Given the description of an element on the screen output the (x, y) to click on. 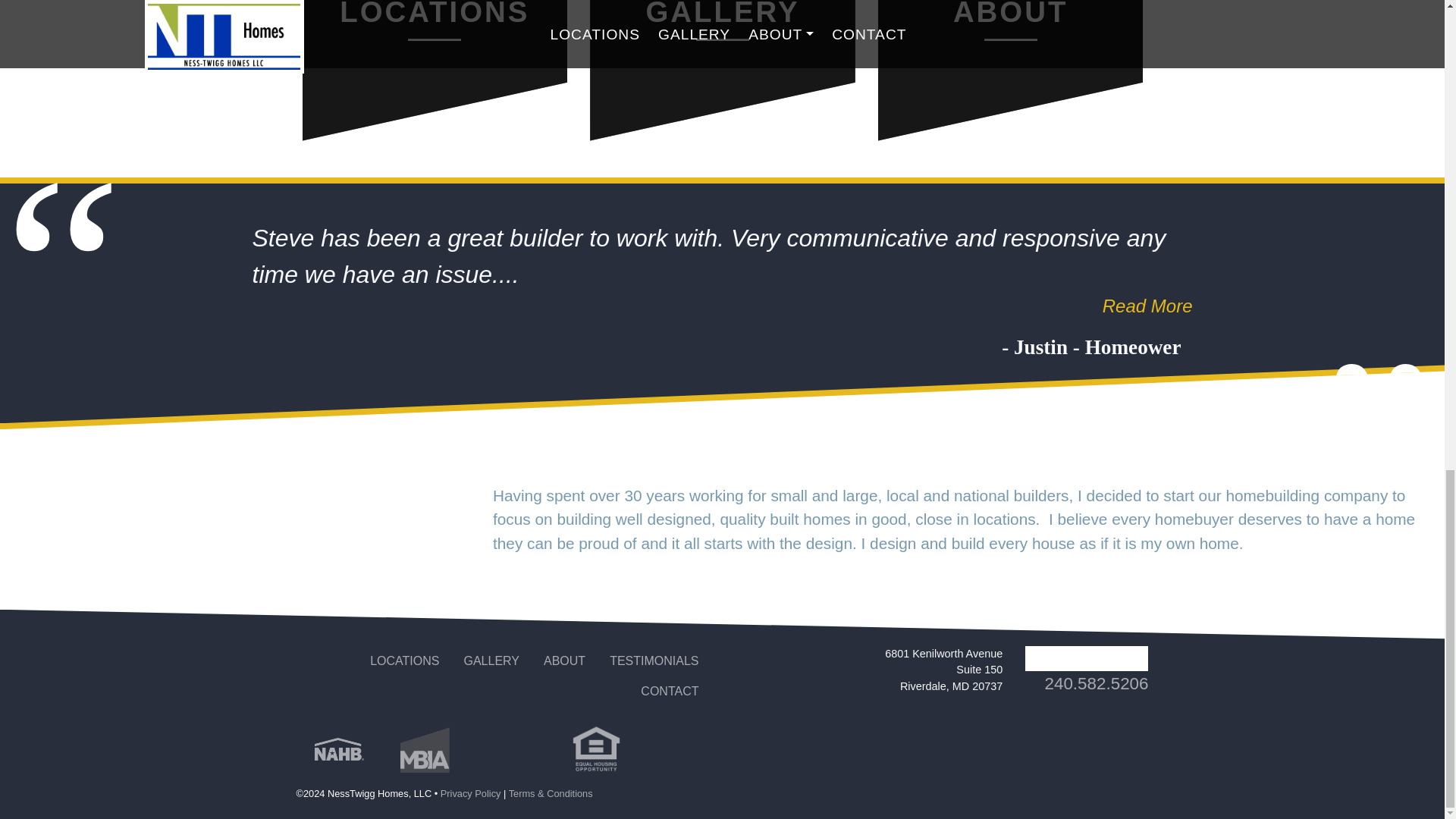
240.582.5206 (1096, 683)
ABOUT (563, 661)
GALLERY (722, 79)
GALLERY (491, 661)
LOCATIONS (435, 79)
ABOUT (1010, 79)
Privacy Policy (470, 793)
Read More (724, 305)
TESTIMONIALS (653, 661)
LOCATIONS (404, 661)
